Given the description of an element on the screen output the (x, y) to click on. 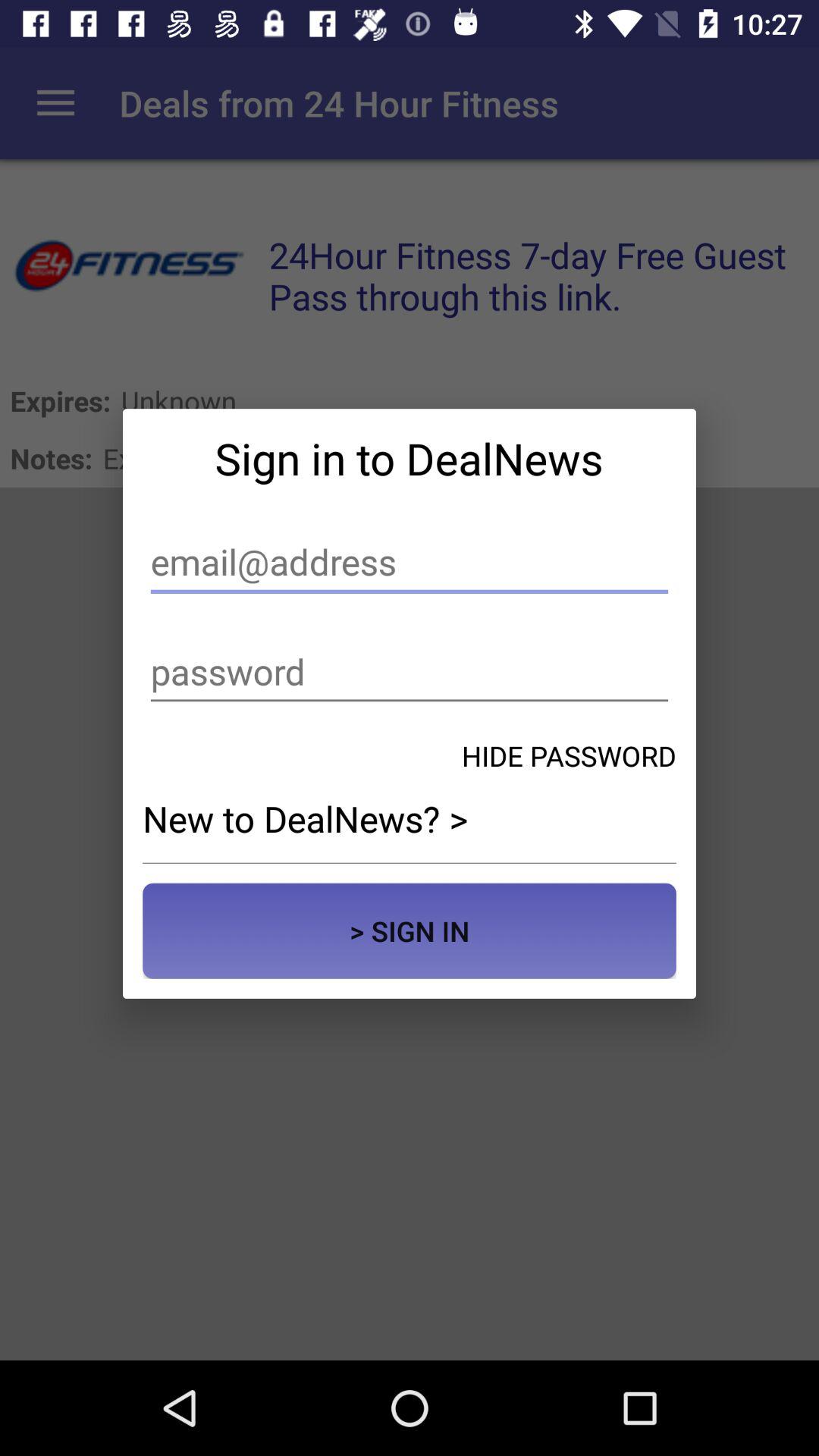
tap item above hide password item (409, 672)
